Given the description of an element on the screen output the (x, y) to click on. 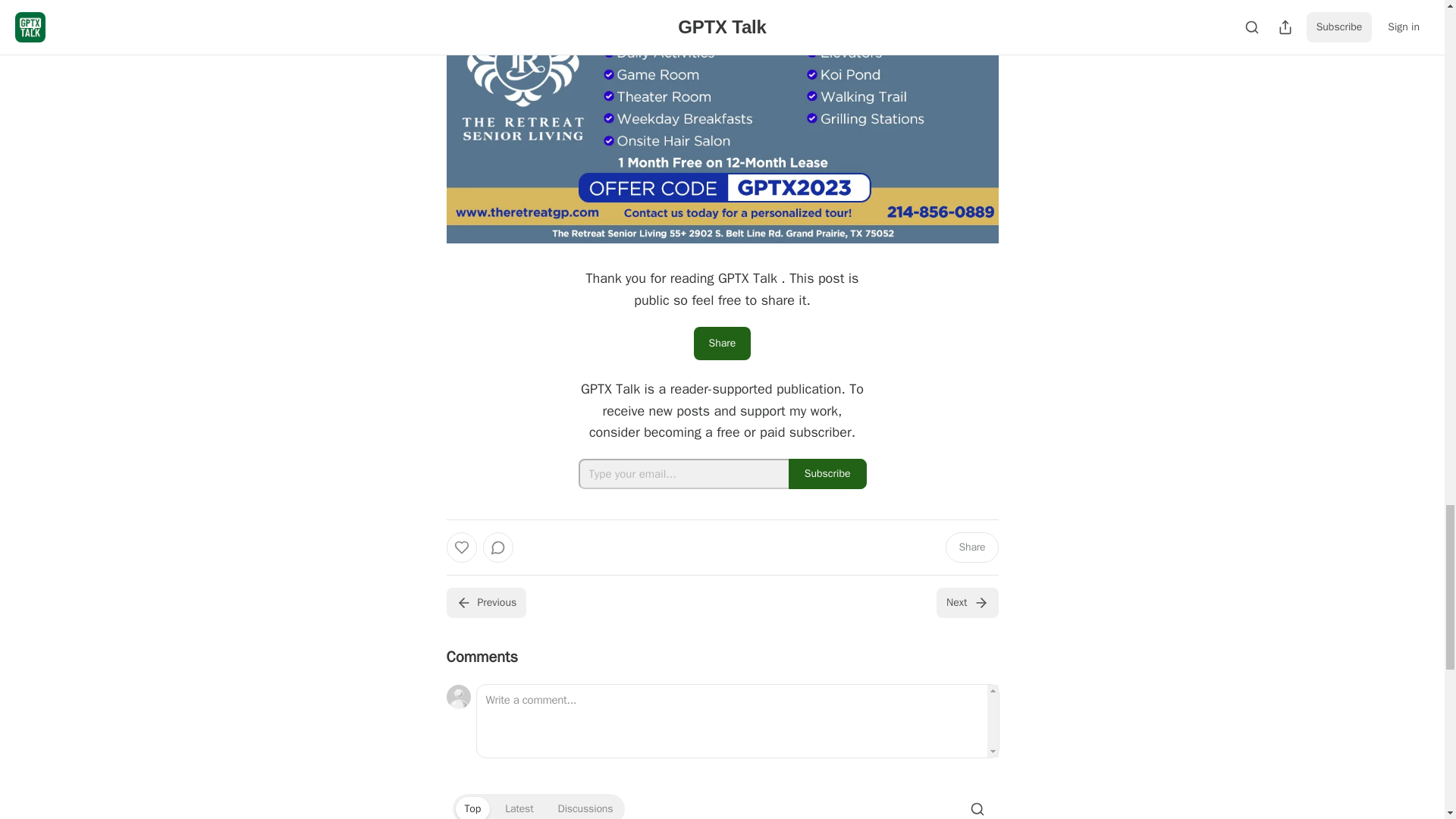
Subscribe (827, 473)
Share (970, 547)
Share (722, 343)
